Given the description of an element on the screen output the (x, y) to click on. 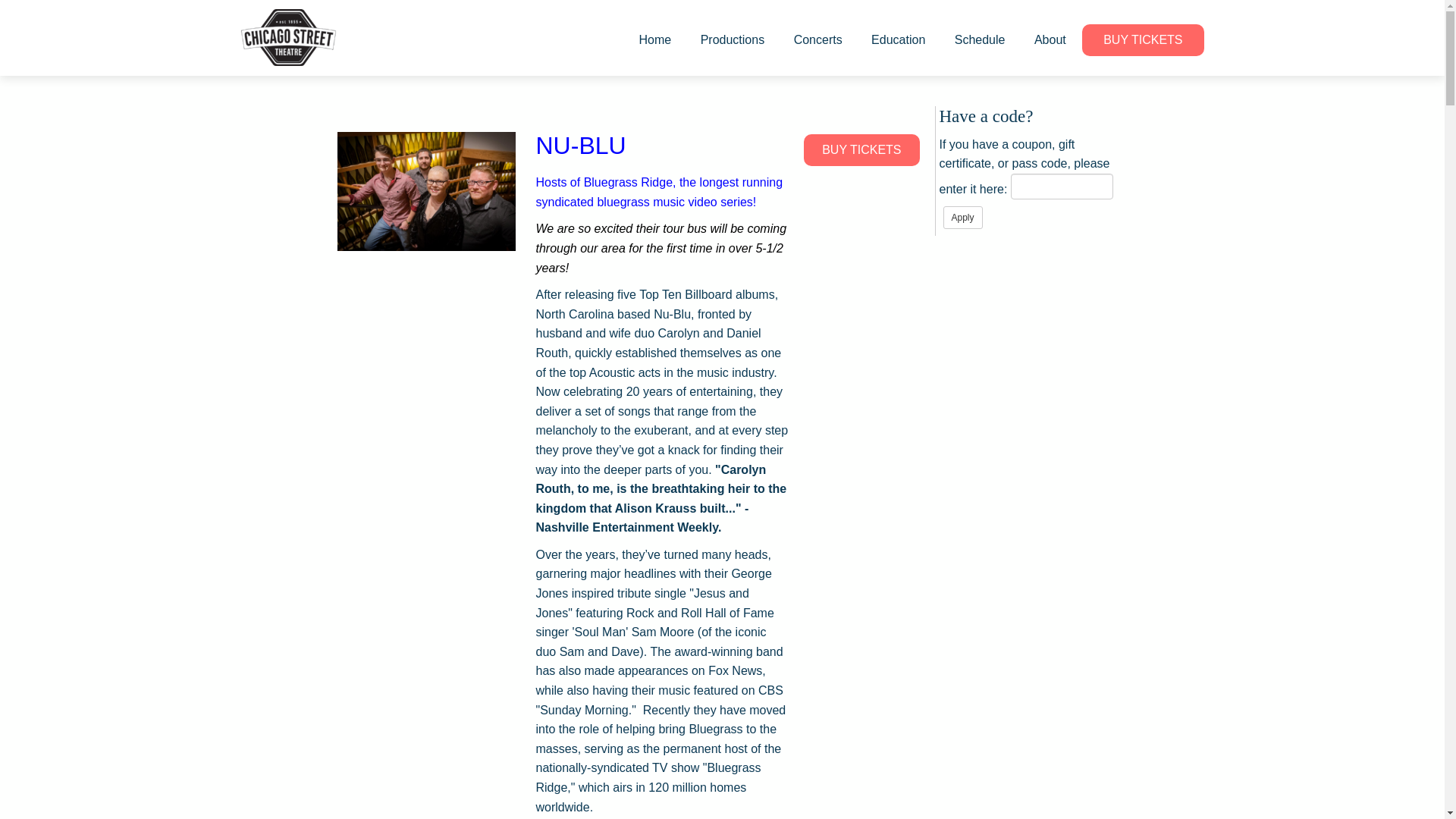
Productions (732, 39)
About (1050, 39)
BUY TICKETS (1142, 40)
Home (655, 39)
Apply (962, 217)
Schedule (979, 39)
Education (898, 39)
BUY TICKETS (860, 150)
Concerts (818, 39)
